Given the description of an element on the screen output the (x, y) to click on. 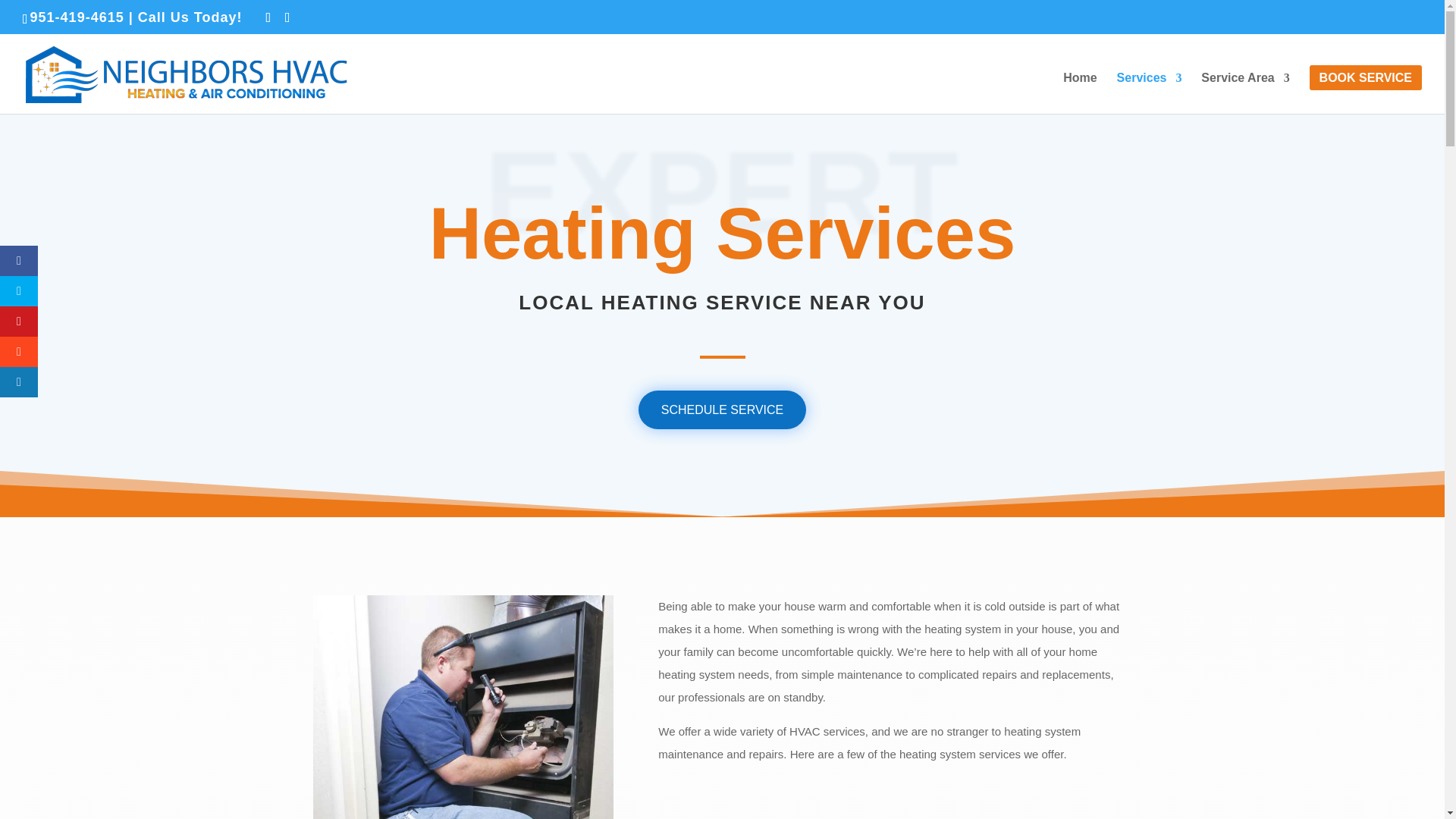
SCHEDULE SERVICE (722, 409)
BOOK SERVICE (1365, 92)
Service Area (1244, 92)
Services (1149, 92)
